Given the description of an element on the screen output the (x, y) to click on. 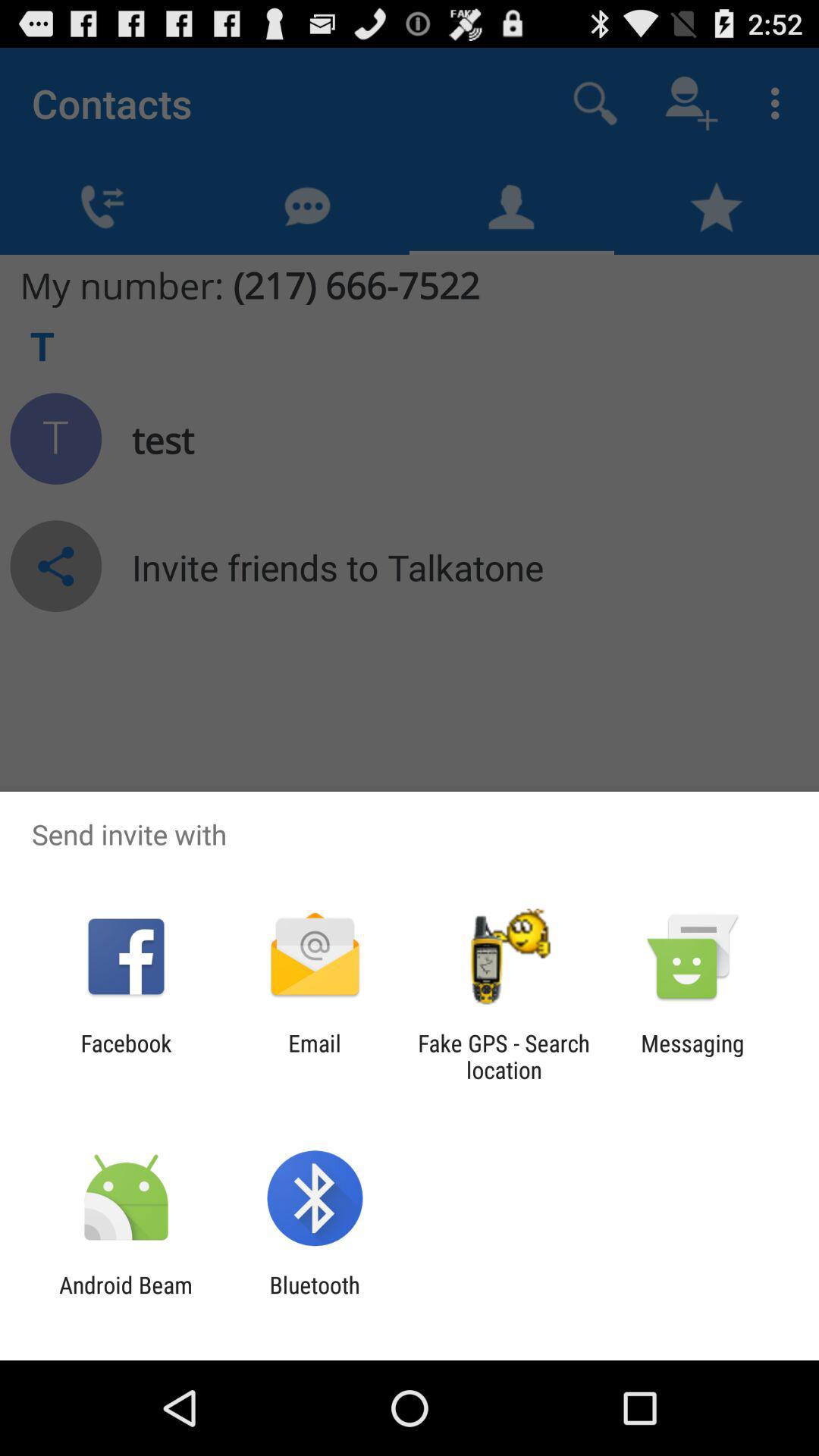
launch the icon next to the email (503, 1056)
